Given the description of an element on the screen output the (x, y) to click on. 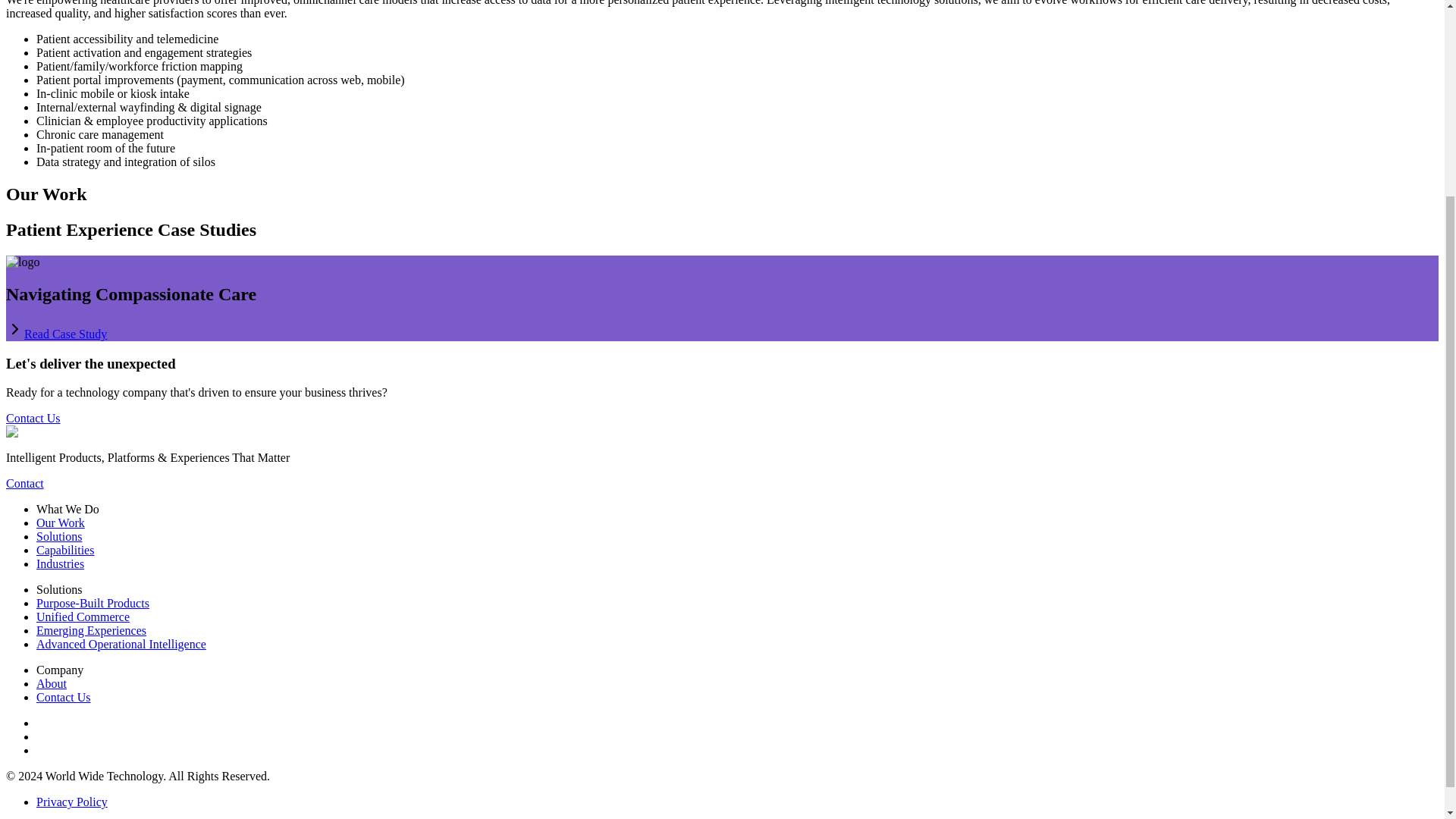
Emerging Experiences (91, 630)
Purpose-Built Products (92, 603)
Capabilities (65, 549)
Industries (60, 563)
Unified Commerce (82, 616)
Solutions (58, 535)
Contact Us (63, 697)
Contact (24, 482)
Our Work (60, 522)
Read Case Study (65, 333)
